Given the description of an element on the screen output the (x, y) to click on. 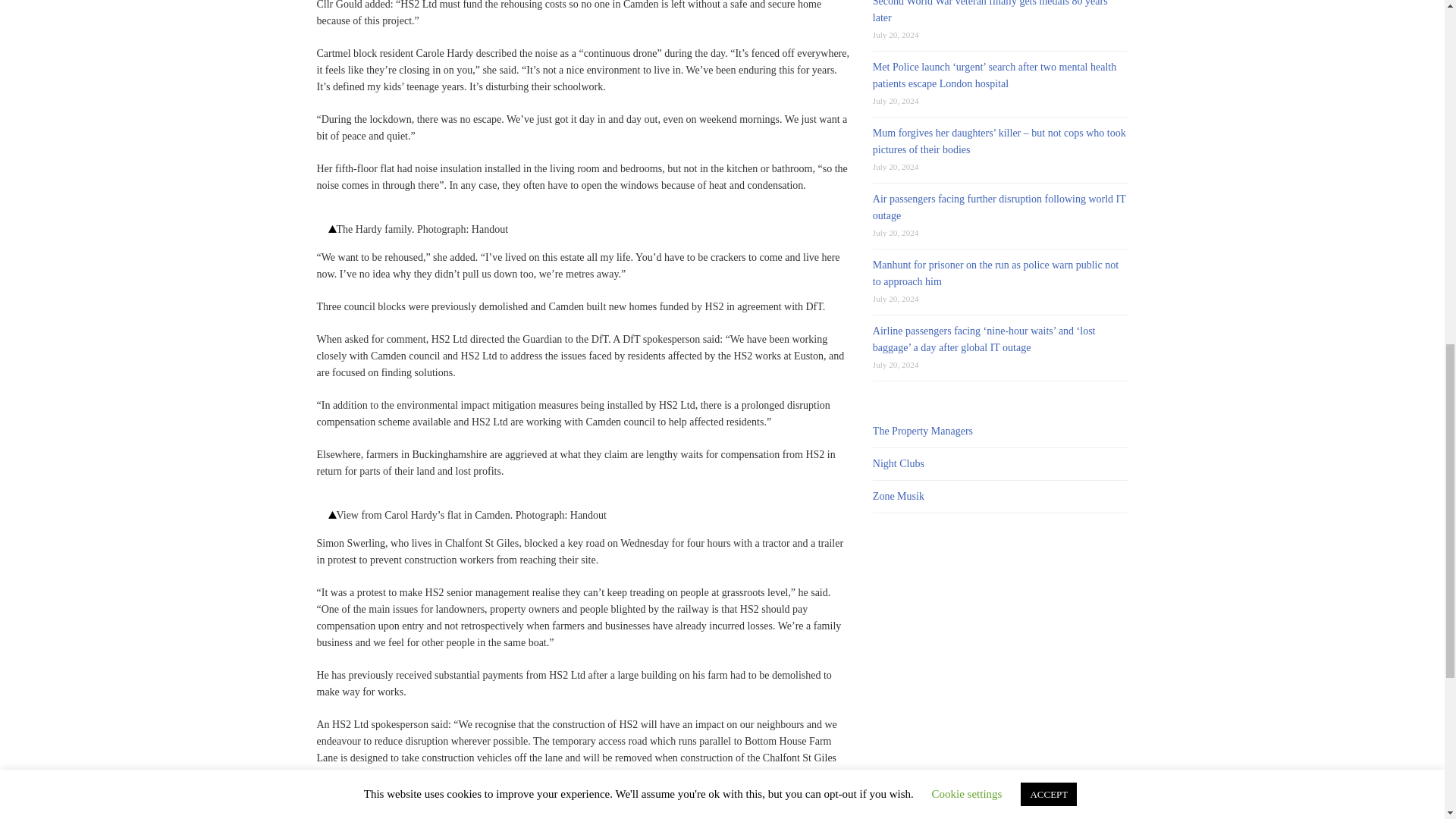
Zone Musik (898, 496)
Night Clubs (898, 463)
The Property Managers (922, 430)
Second World War veteran finally gets medals 80 years later (990, 11)
